Given the description of an element on the screen output the (x, y) to click on. 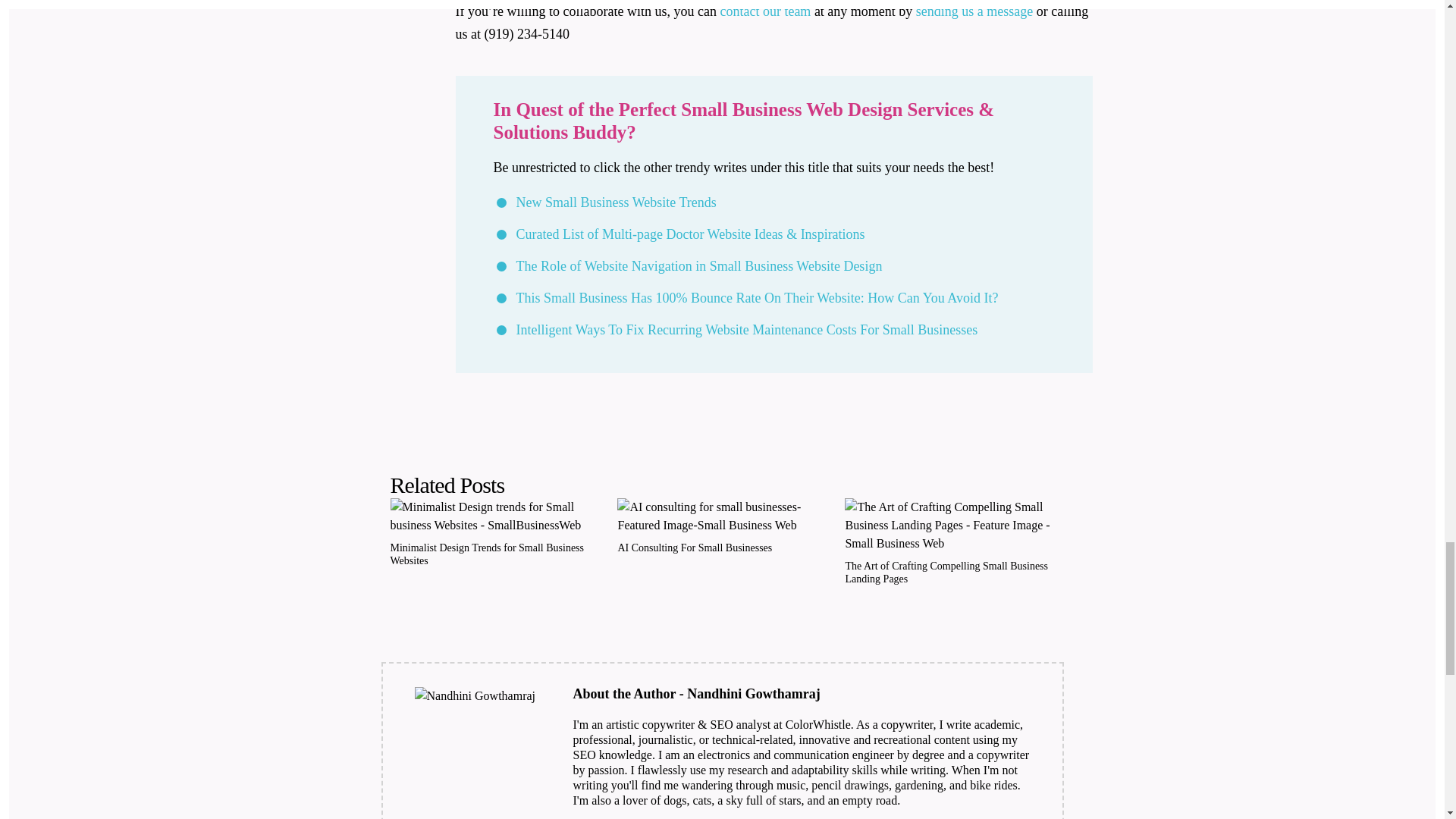
Nandhini Gowthamraj (474, 696)
contact our team (764, 11)
